Given the description of an element on the screen output the (x, y) to click on. 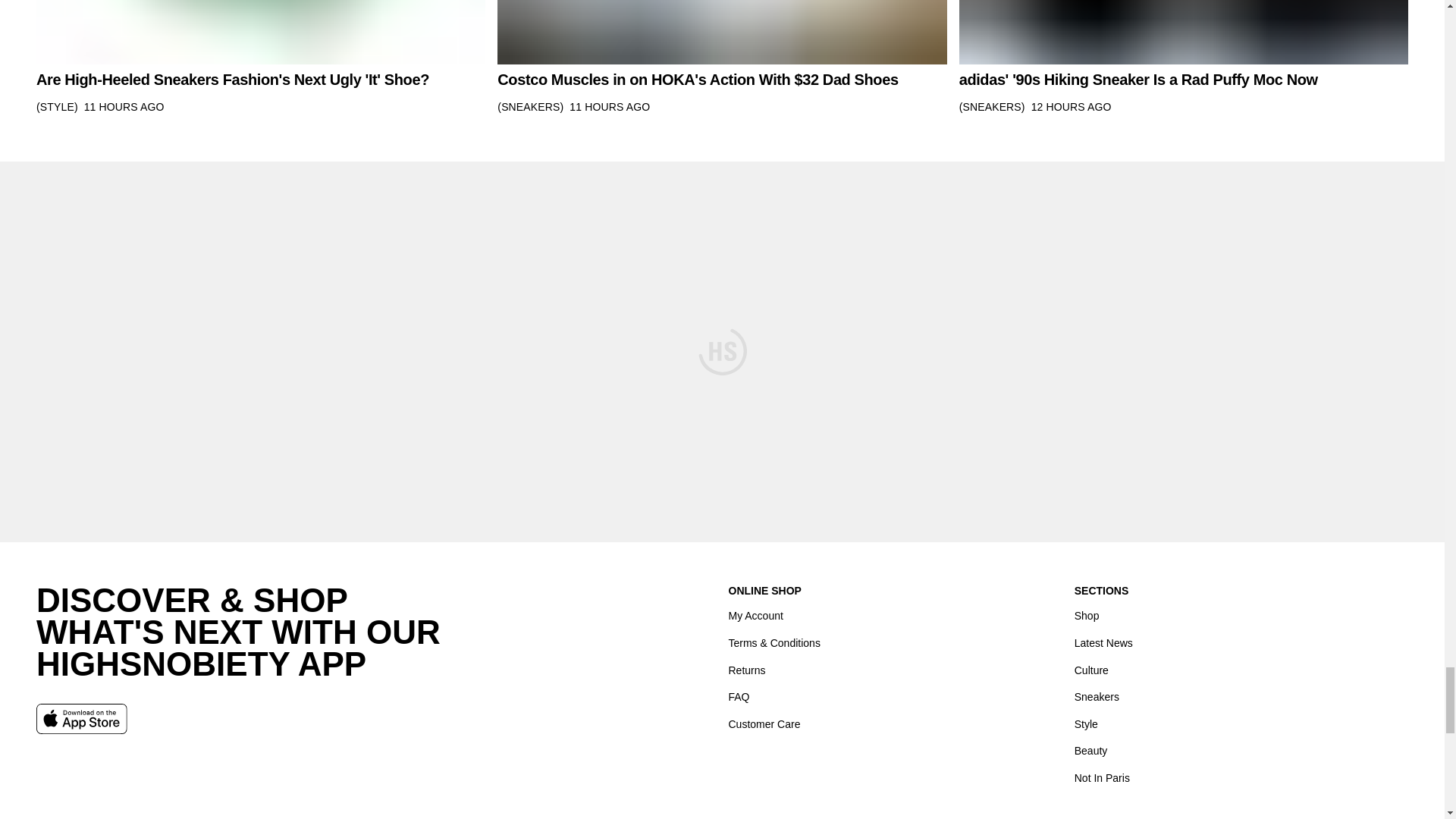
My Account (755, 615)
Shop (1086, 615)
Returns (746, 669)
Customer Care (763, 723)
FAQ (738, 697)
Latest News (1103, 643)
Culture (1091, 669)
